Given the description of an element on the screen output the (x, y) to click on. 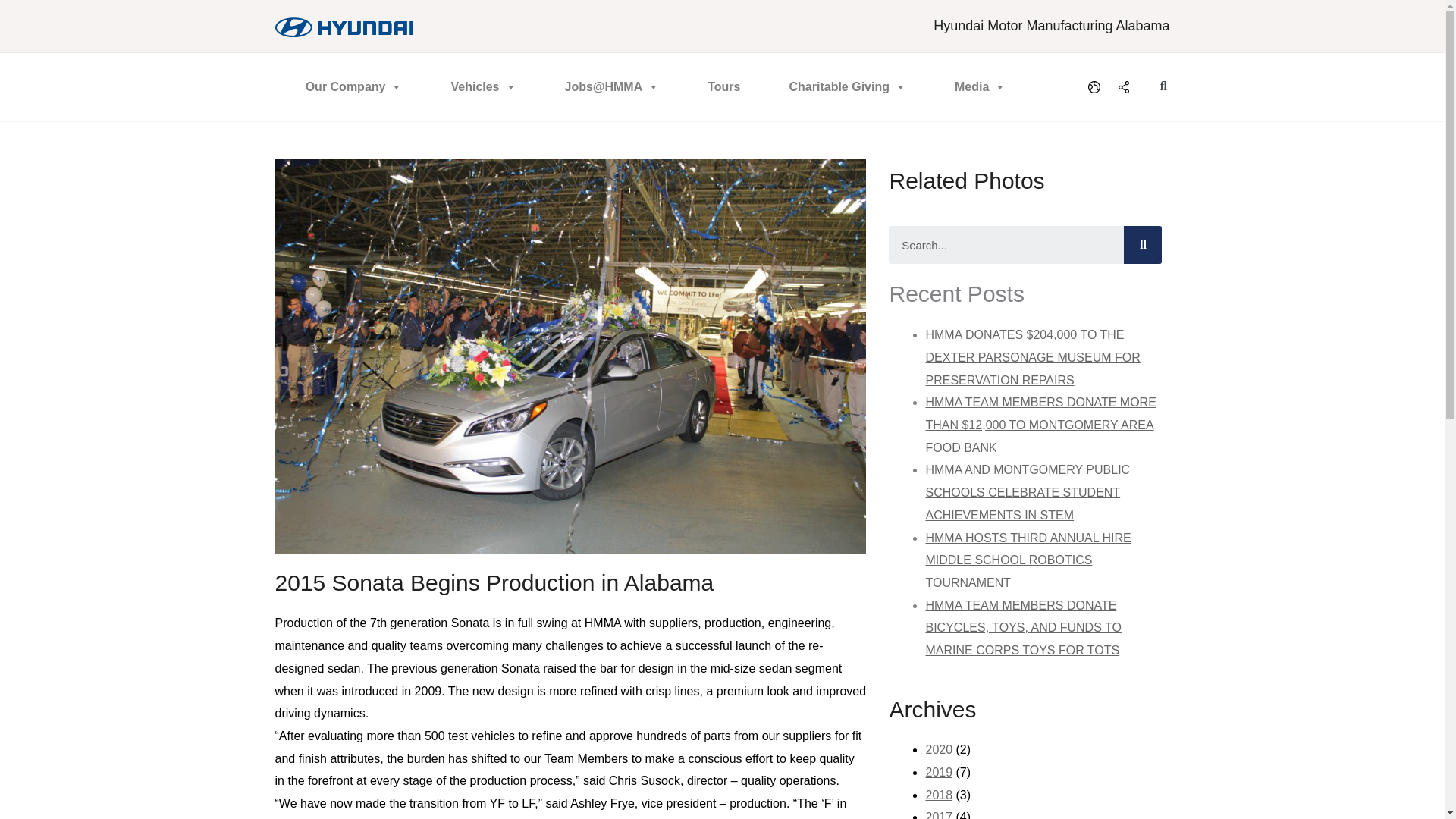
Tours (723, 86)
Vehicles (482, 86)
Search (1142, 244)
Our Company (353, 86)
Media (979, 86)
Charitable Giving (846, 86)
Search (1006, 244)
